Given the description of an element on the screen output the (x, y) to click on. 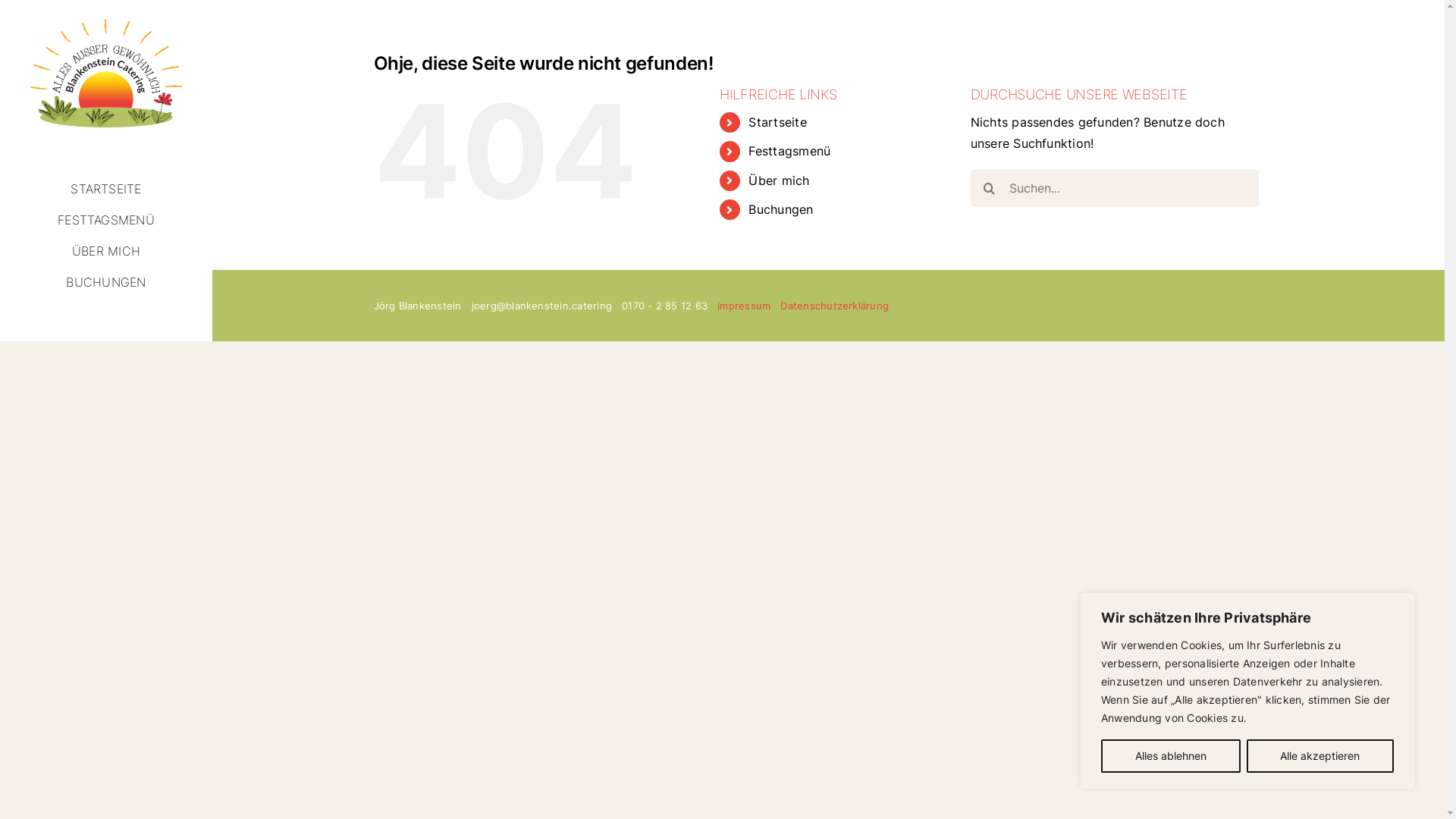
Alle akzeptieren Element type: text (1320, 755)
Buchungen Element type: text (780, 208)
Alles ablehnen Element type: text (1170, 755)
Startseite Element type: text (777, 121)
BUCHUNGEN Element type: text (106, 282)
Impressum Element type: text (743, 305)
STARTSEITE Element type: text (106, 188)
